Given the description of an element on the screen output the (x, y) to click on. 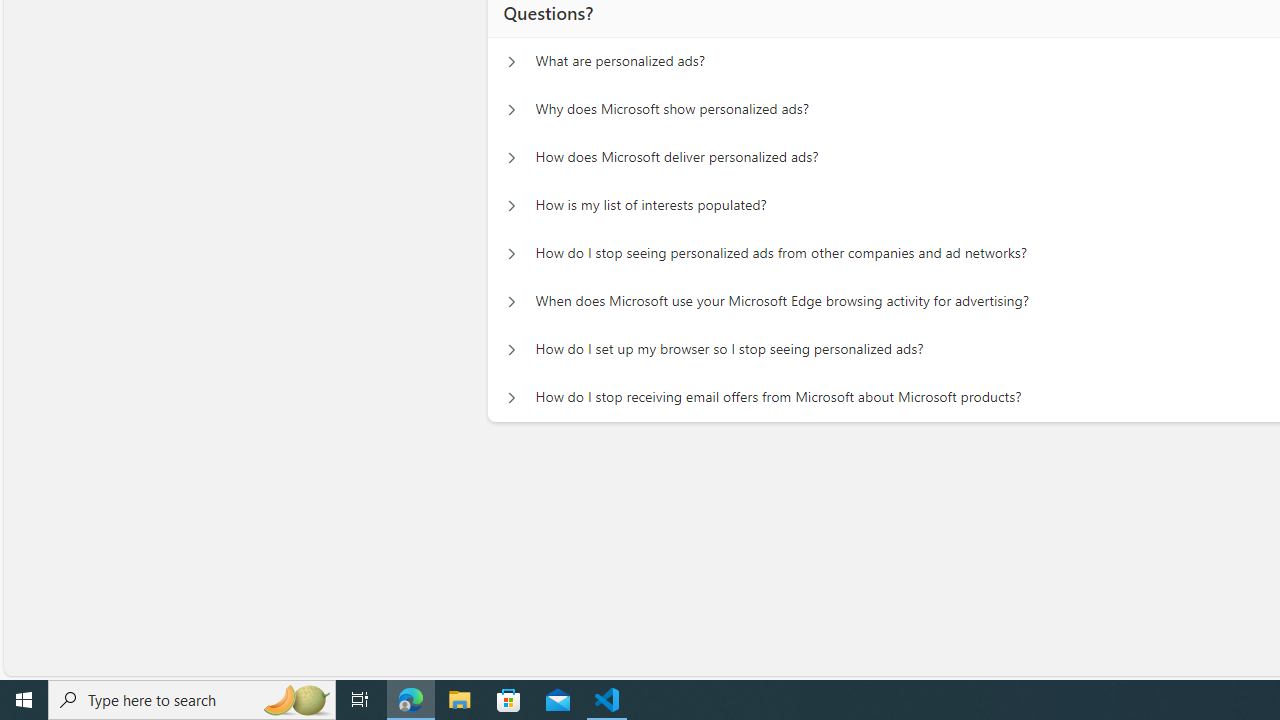
Questions? How does Microsoft deliver personalized ads? (511, 157)
Questions? What are personalized ads? (511, 62)
Questions? How is my list of interests populated? (511, 206)
Questions? Why does Microsoft show personalized ads? (511, 110)
